Given the description of an element on the screen output the (x, y) to click on. 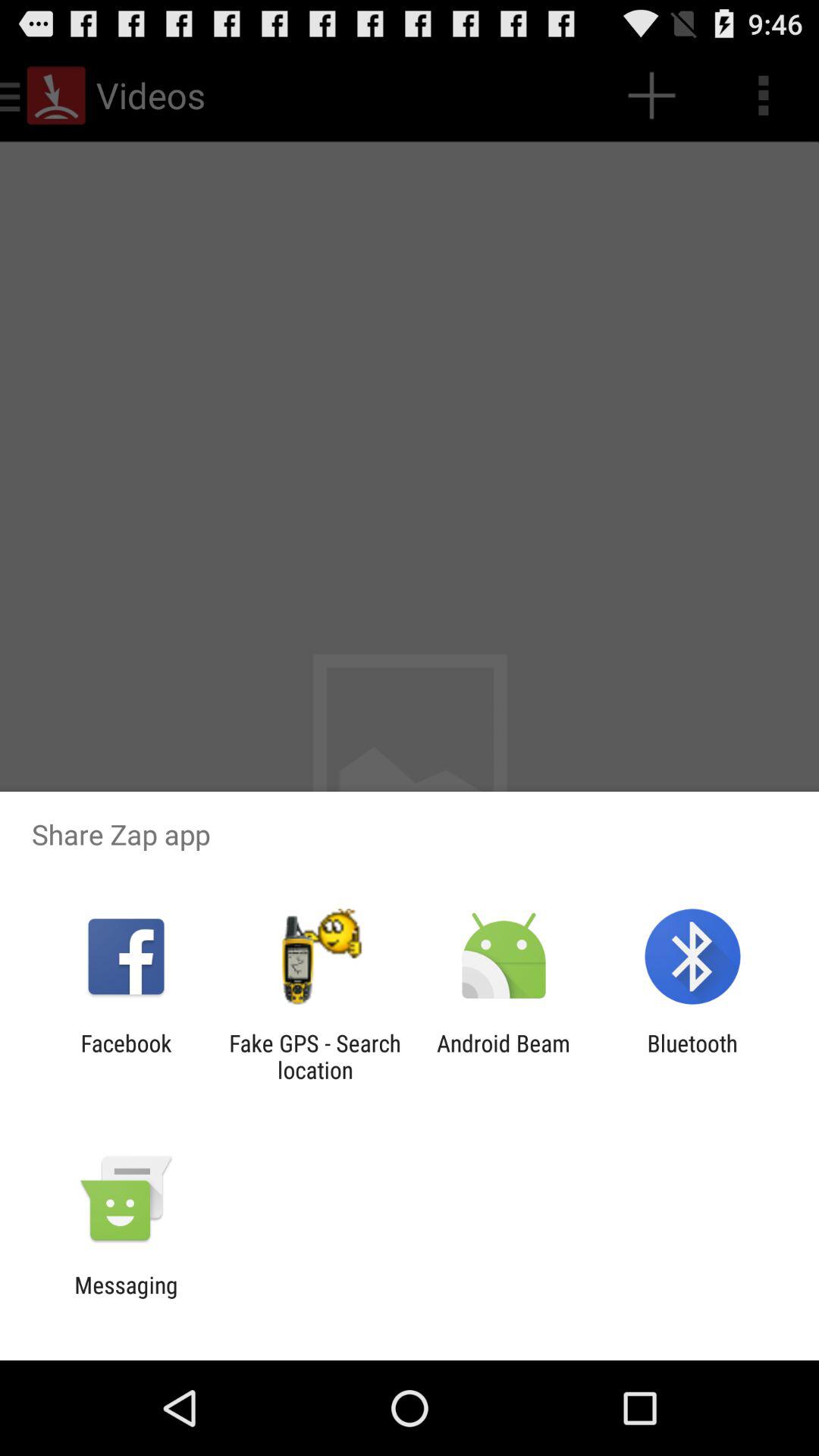
select the facebook app (125, 1056)
